Given the description of an element on the screen output the (x, y) to click on. 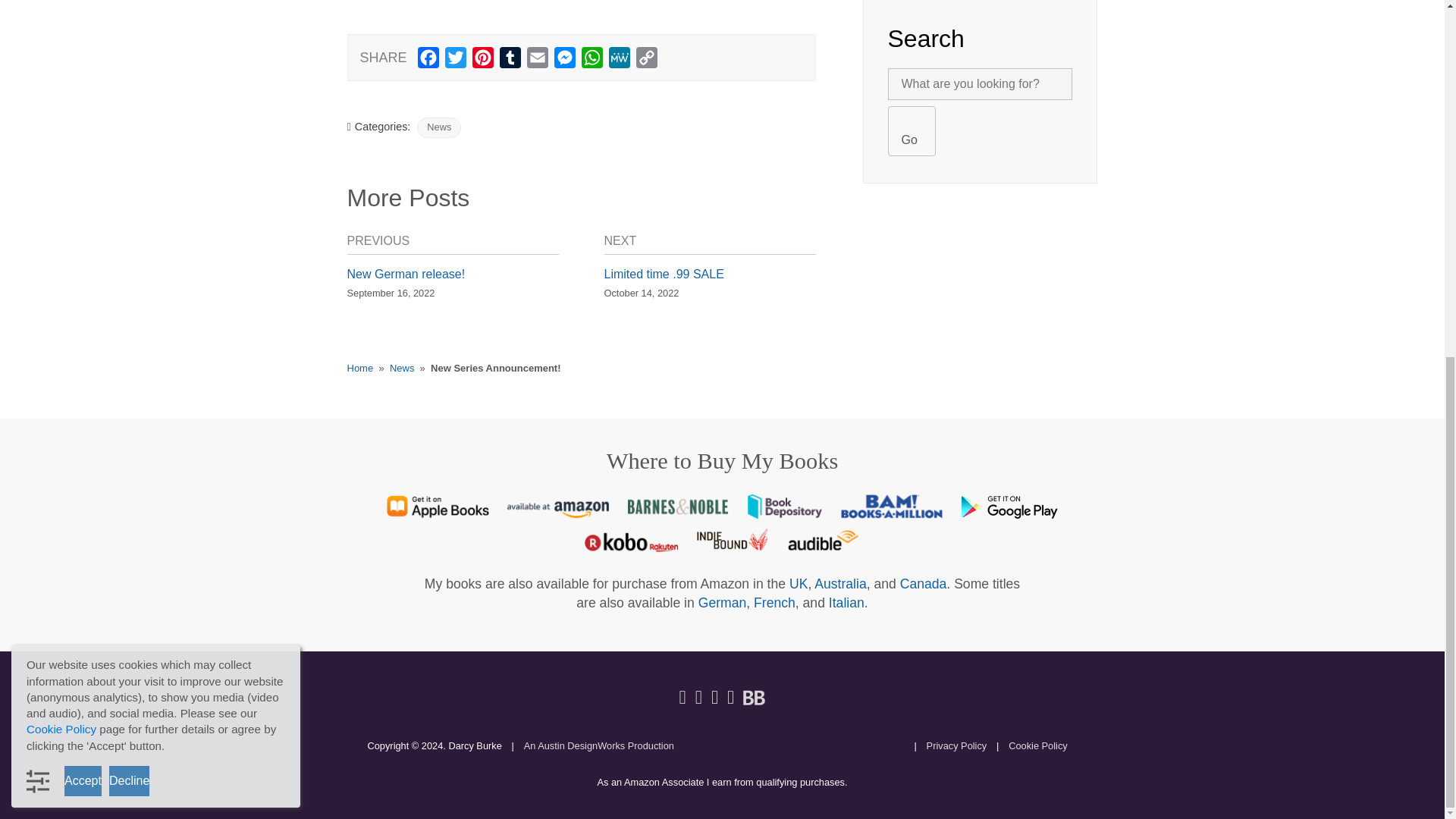
Email (537, 60)
WhatsApp (591, 60)
Twitter (455, 60)
Twitter (455, 60)
Messenger (564, 60)
Facebook (428, 60)
Pinterest (482, 60)
Tumblr (510, 60)
Facebook (428, 60)
MeWe (619, 60)
Messenger (564, 60)
MeWe (619, 60)
Copy Link (647, 60)
Open cookie settings (37, 153)
Email (537, 60)
